Given the description of an element on the screen output the (x, y) to click on. 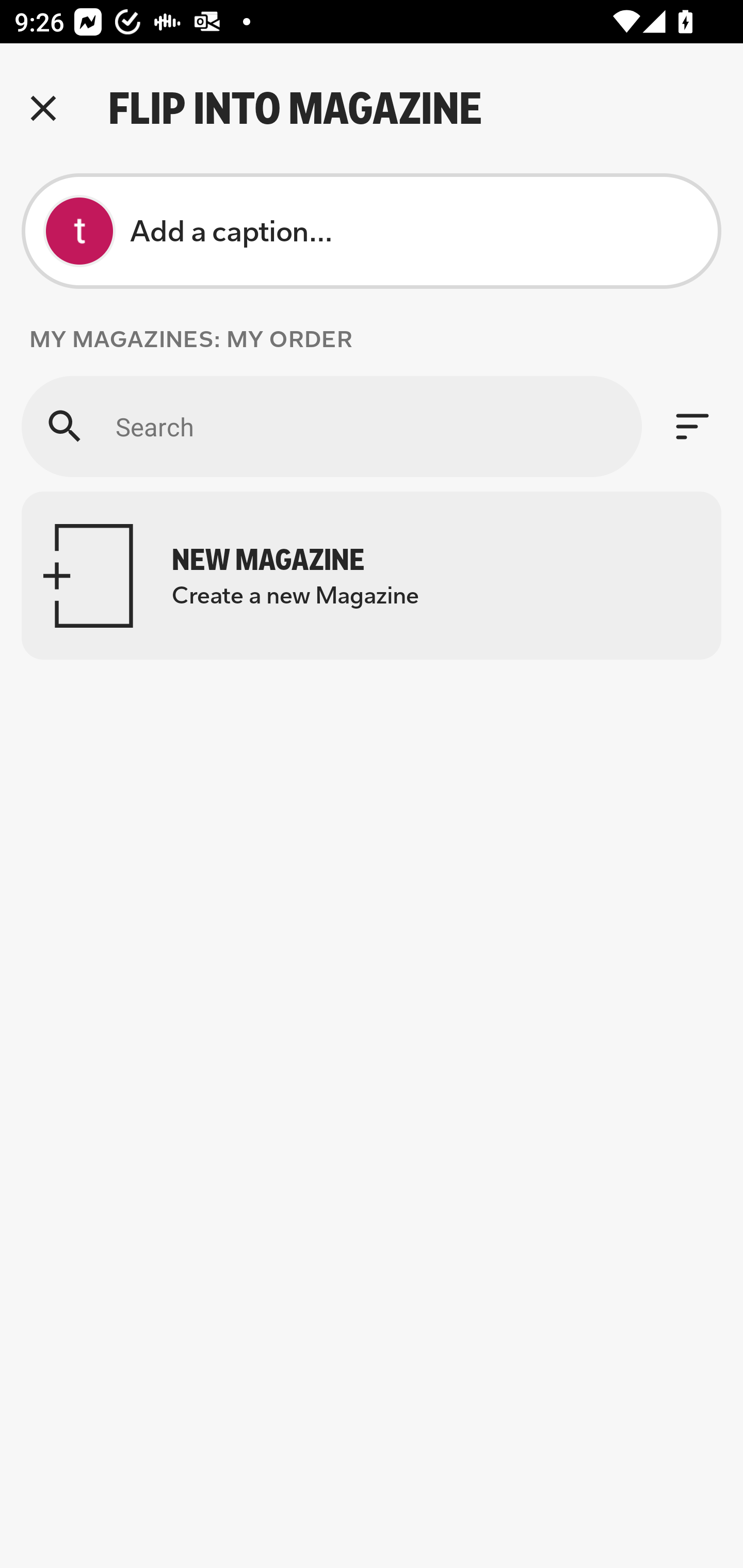
test appium Add a caption… (371, 231)
Search (331, 426)
NEW MAGAZINE Create a new Magazine (371, 575)
